Given the description of an element on the screen output the (x, y) to click on. 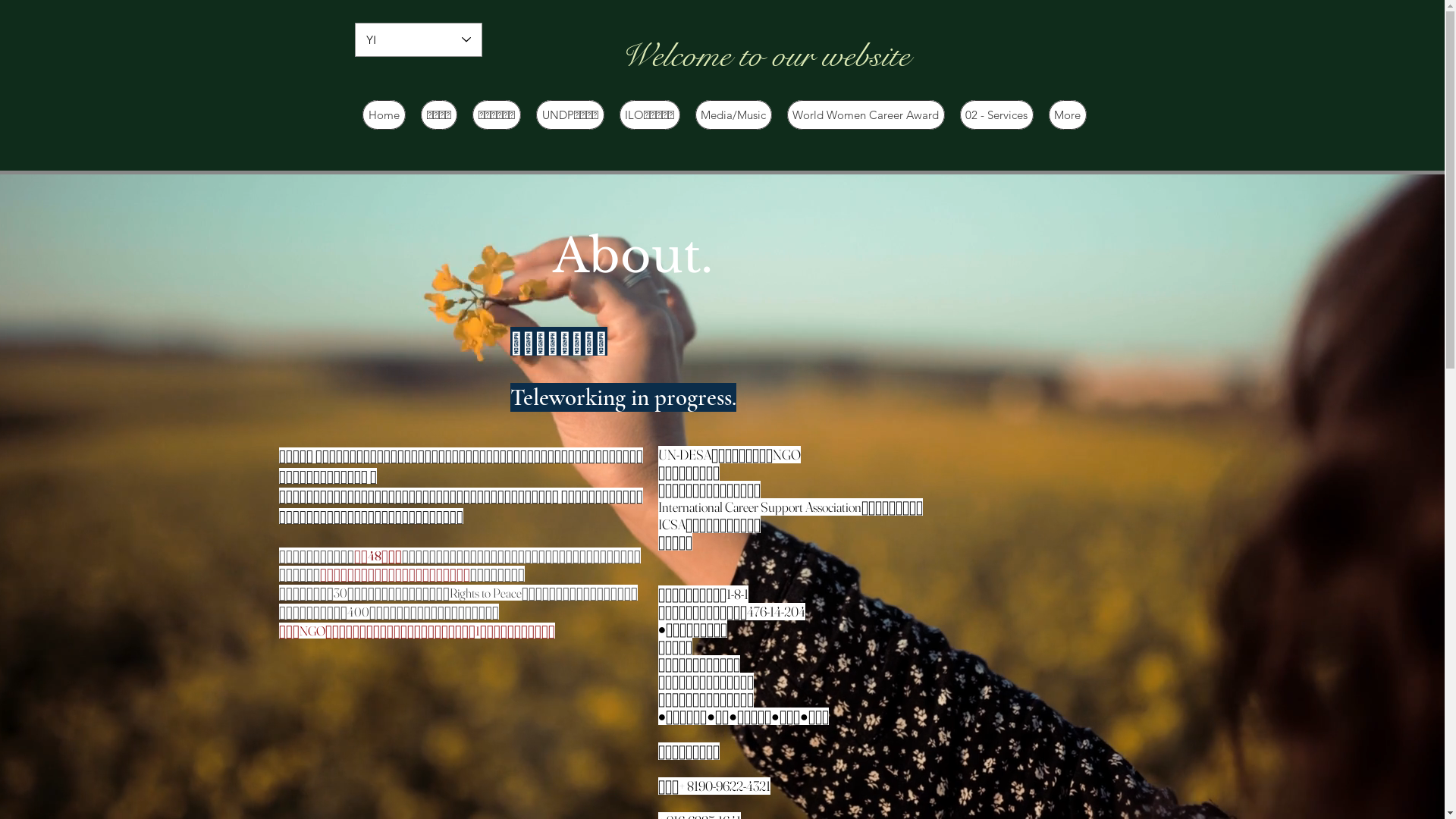
Media/Music Element type: text (732, 114)
Home Element type: text (383, 114)
World Women Career Award Element type: text (865, 114)
02 - Services Element type: text (996, 114)
